Given the description of an element on the screen output the (x, y) to click on. 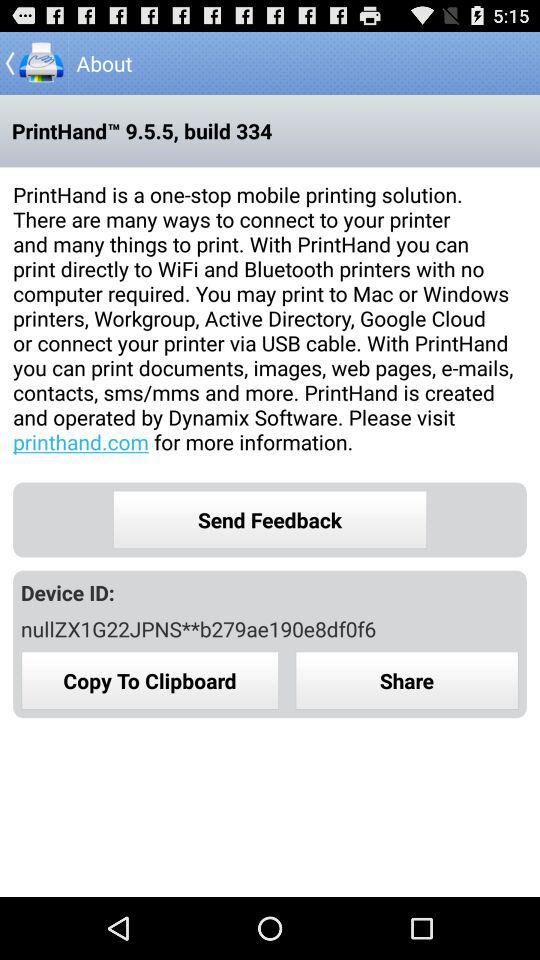
press the icon at the bottom left corner (150, 680)
